Given the description of an element on the screen output the (x, y) to click on. 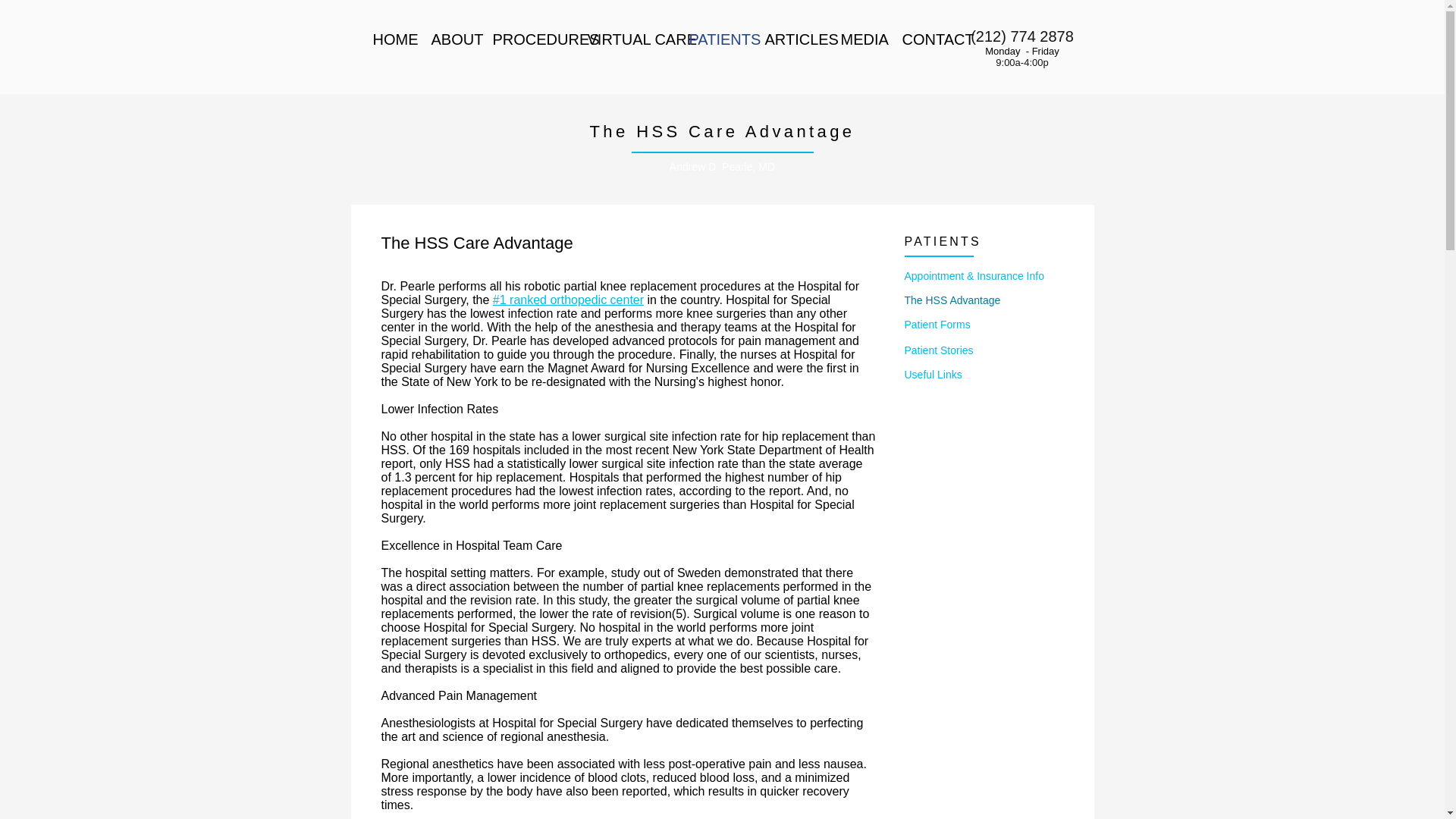
MEDIA (860, 39)
The HSS Care Advantage (722, 131)
PATIENTS (716, 39)
Useful Links (983, 375)
VIRTUAL CARE (627, 39)
CONTACT (926, 39)
HOME (390, 39)
PROCEDURES (527, 39)
Patient Forms (983, 324)
ABOUT (450, 39)
